Given the description of an element on the screen output the (x, y) to click on. 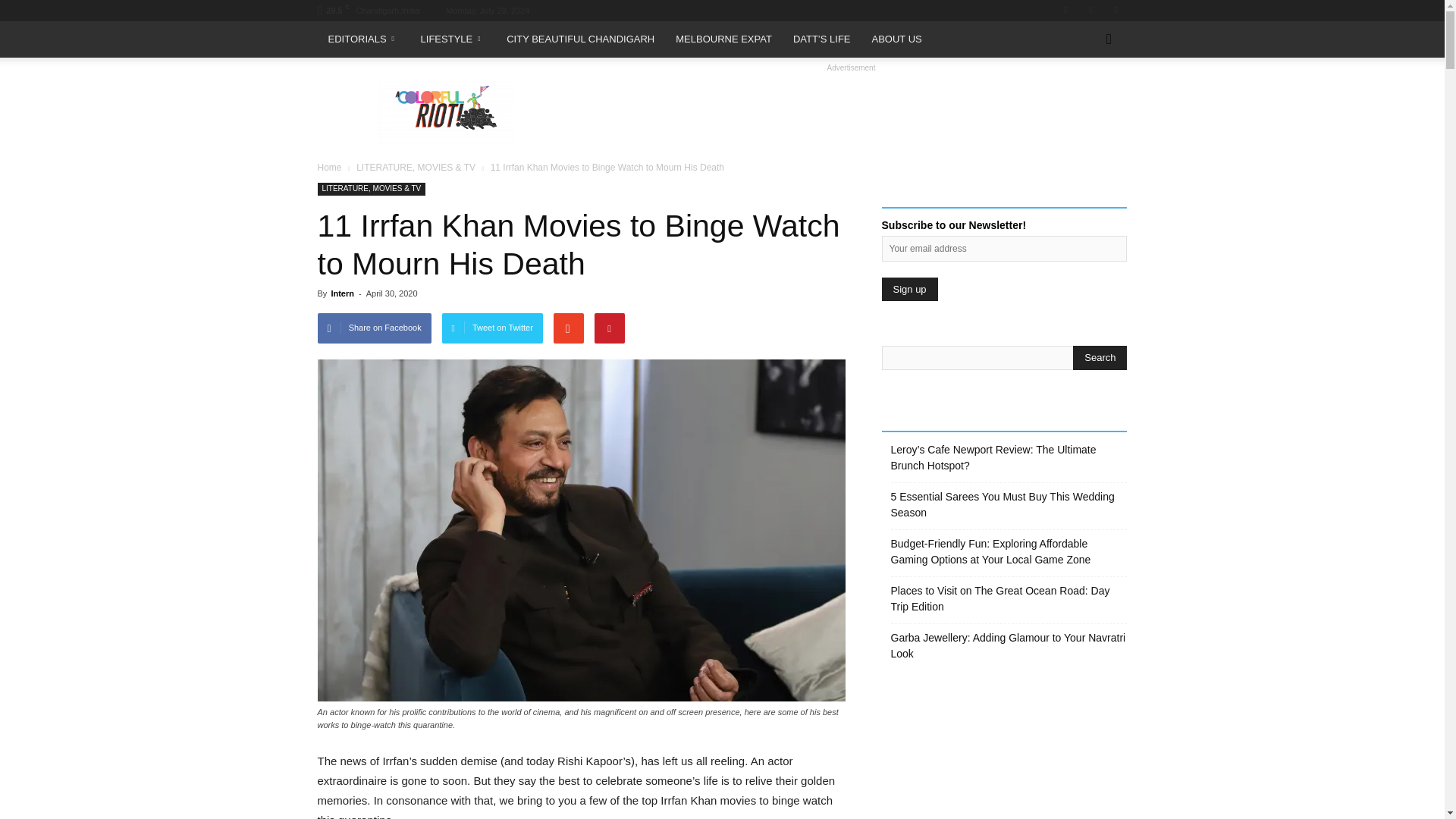
Advertisement (850, 110)
Twitter (1114, 10)
Search (1099, 357)
LIFESTYLE (453, 39)
Sign up (908, 289)
Facebook (1065, 10)
EDITORIALS (363, 39)
Instagram (1090, 10)
